Given the description of an element on the screen output the (x, y) to click on. 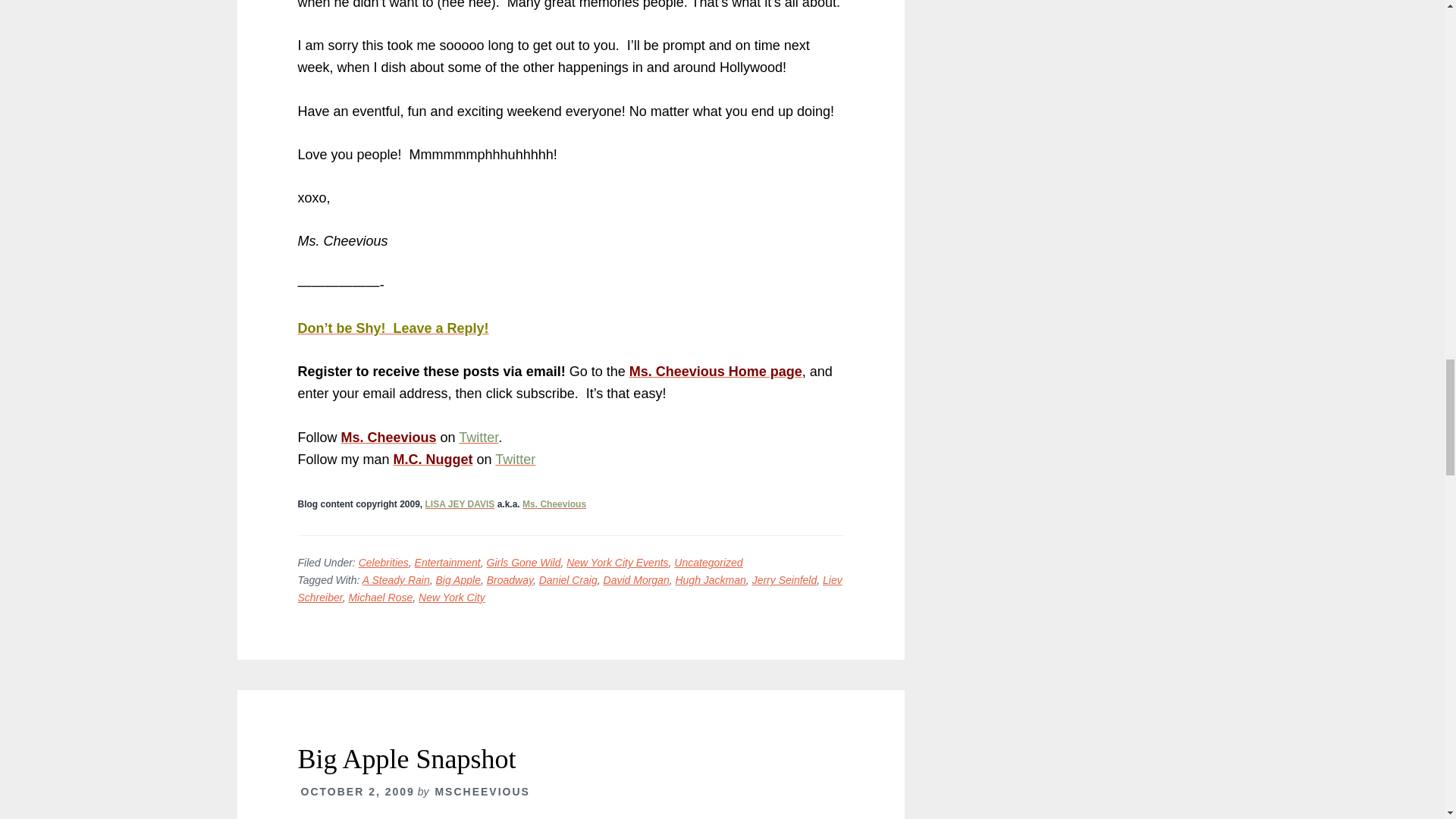
A Steady Rain (395, 580)
MS CHEEVIOUS (554, 503)
Subscribe Baby! (715, 371)
Girls Gone Wild (523, 562)
Entertainment (447, 562)
Twitter (515, 459)
New York City Events (617, 562)
Ms. Cheevious (388, 437)
LISA JEY DAVIS (460, 503)
Ms. Cheevious Home page (715, 371)
Big Apple (457, 580)
Ms. Cheevious (554, 503)
Twitter (477, 437)
Uncategorized (708, 562)
Celebrities (383, 562)
